Given the description of an element on the screen output the (x, y) to click on. 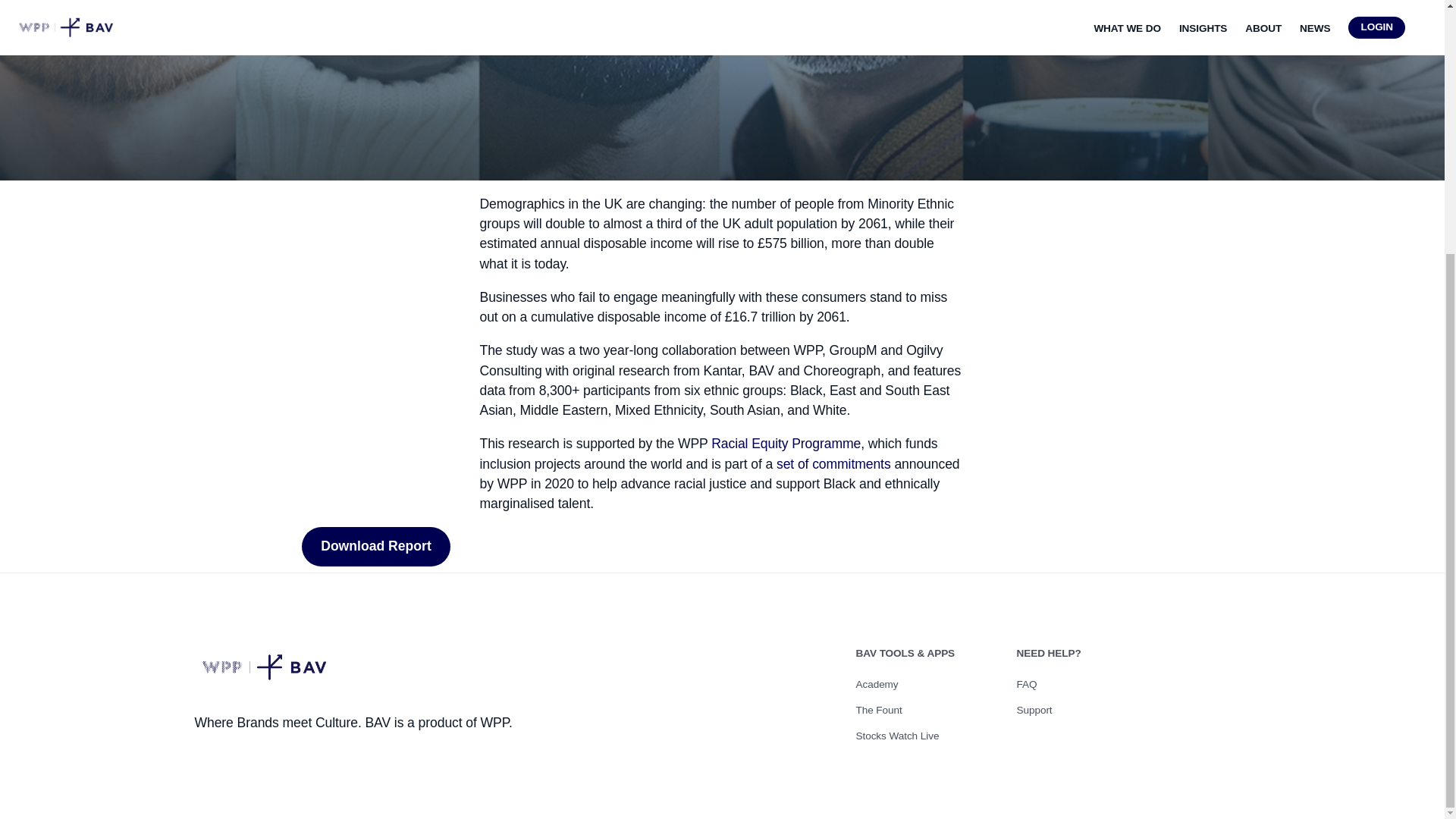
FAQ (1087, 684)
Racial Equity Programme (785, 443)
Stocks Watch Live (926, 735)
set of commitments (833, 463)
Download Report (375, 546)
Academy (926, 684)
Support (1087, 710)
The Fount (926, 710)
